Given the description of an element on the screen output the (x, y) to click on. 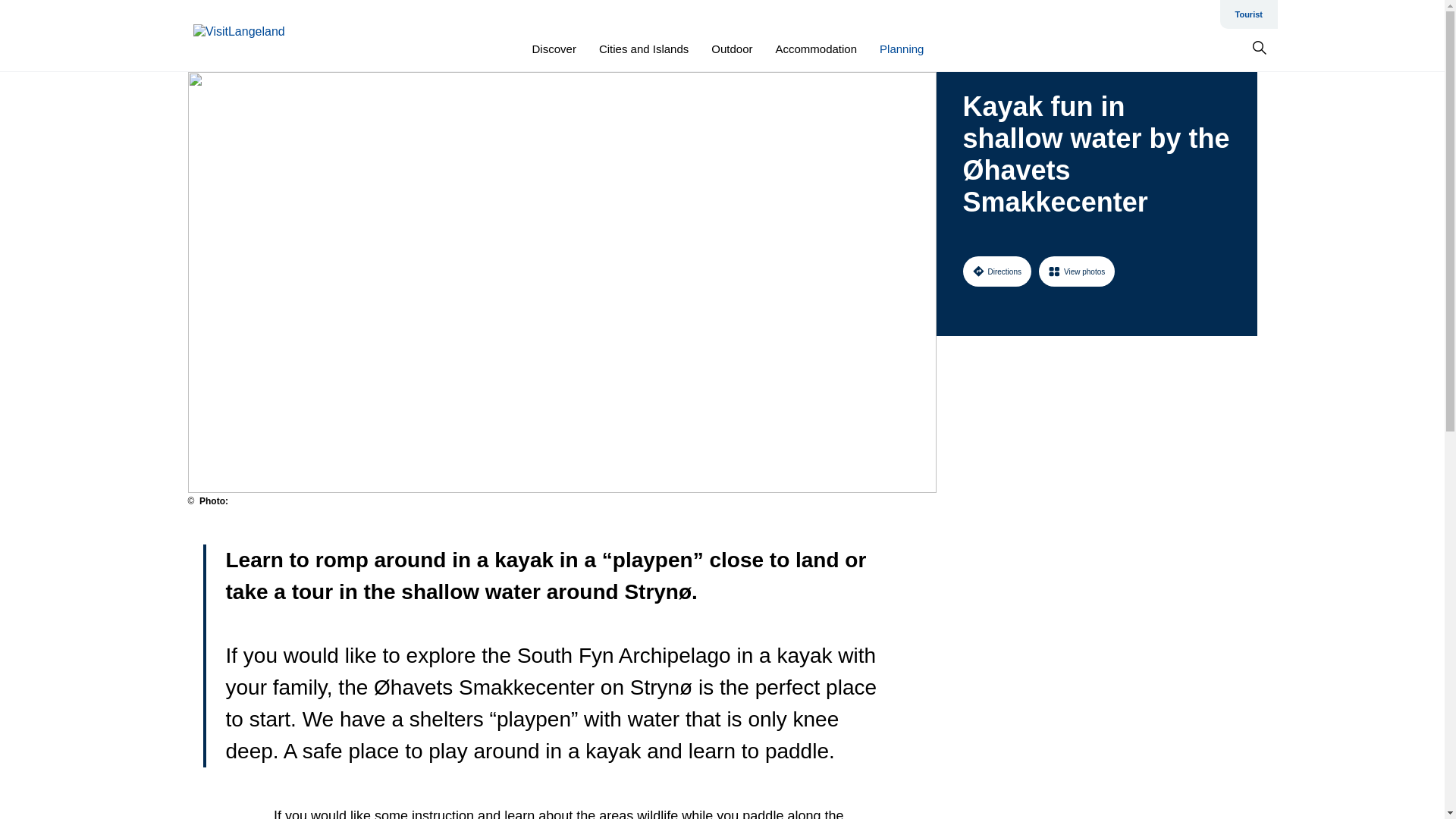
Directions (996, 271)
Go to homepage (253, 35)
Tourist (1248, 14)
Outdoor (731, 48)
Discover (554, 48)
Accommodation (815, 48)
Planning (901, 48)
View photos (1077, 271)
Cities and Islands (643, 48)
